Given the description of an element on the screen output the (x, y) to click on. 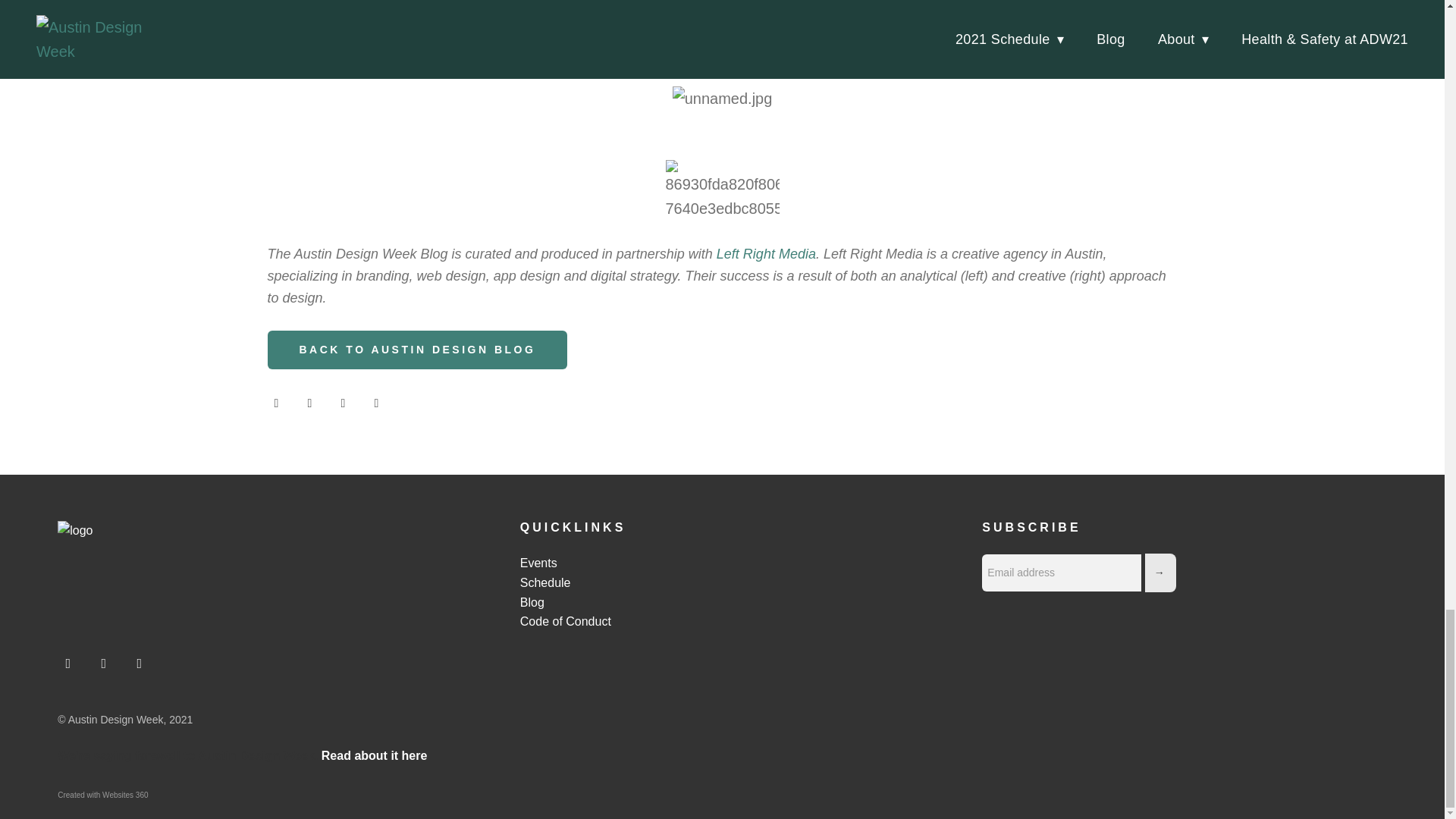
Blog (531, 602)
Created with Websites 360 (103, 795)
Read about it here (374, 755)
Schedule (544, 582)
Code of Conduct (565, 621)
Denise Roberts from Love Ding (760, 51)
BACK TO AUSTIN DESIGN BLOG (416, 349)
Left Right Media (765, 253)
